Given the description of an element on the screen output the (x, y) to click on. 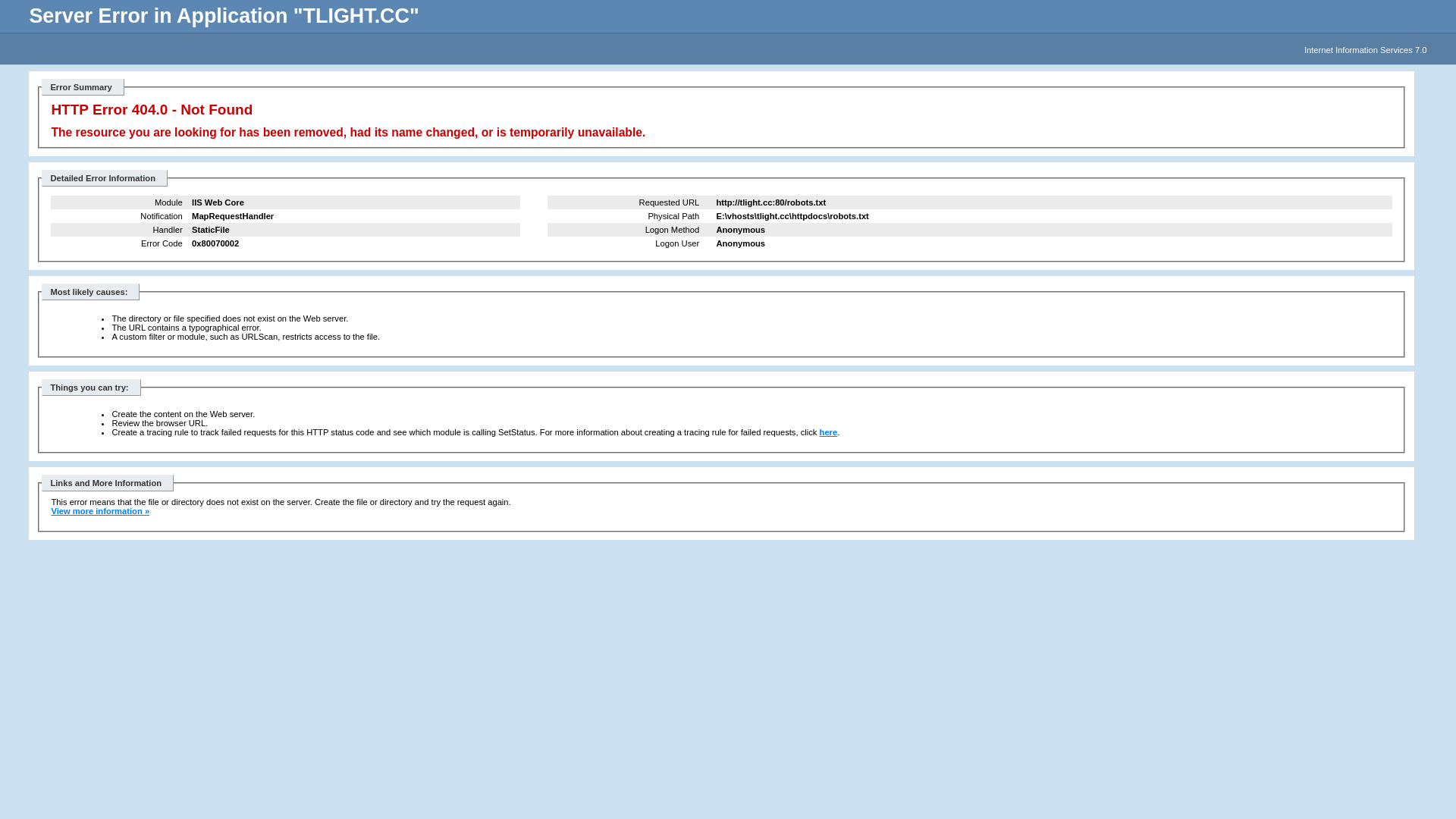
here Element type: text (828, 431)
